Given the description of an element on the screen output the (x, y) to click on. 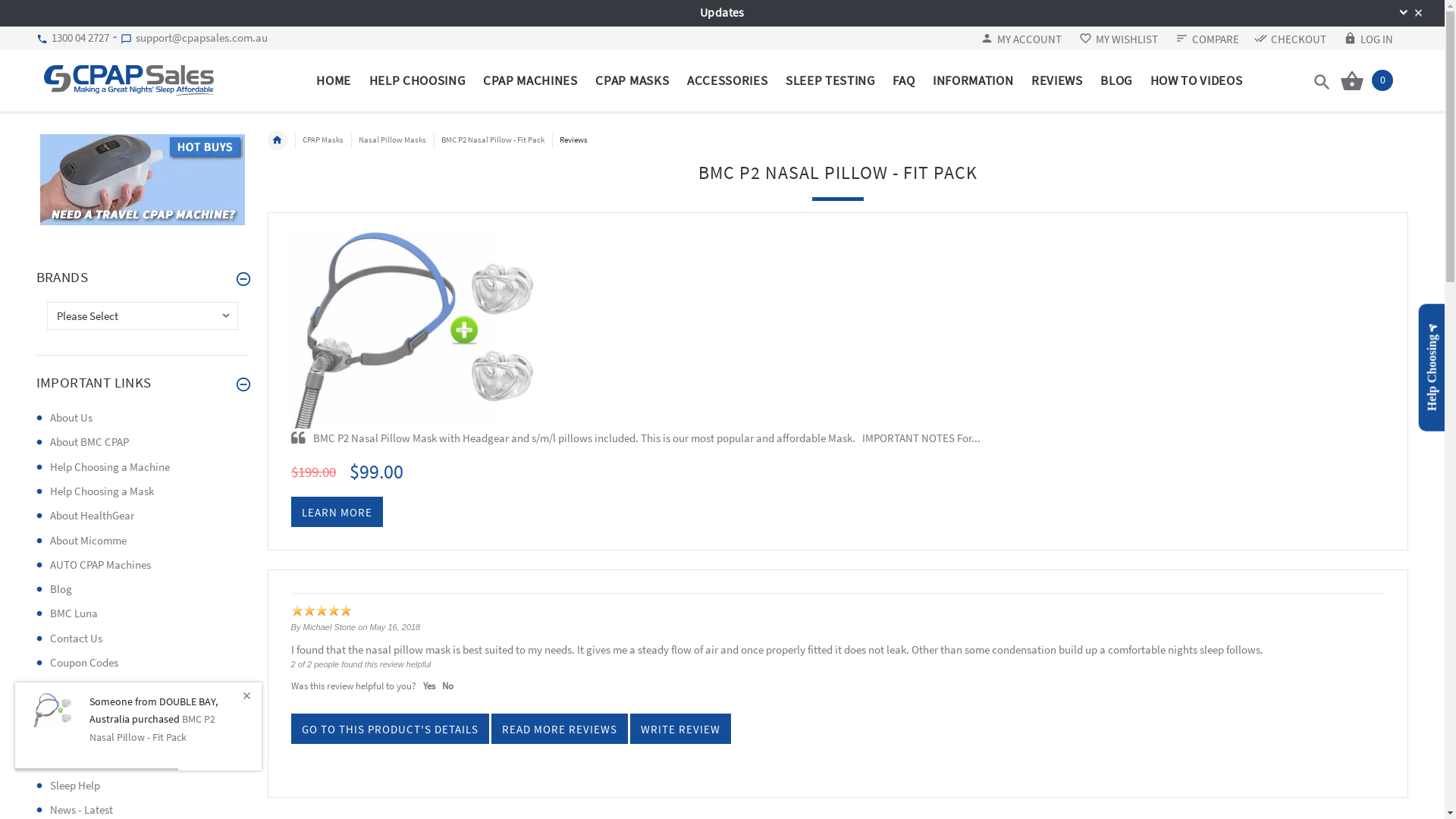
0 Element type: text (1366, 80)
Coupon Codes Element type: text (84, 662)
Yes Element type: text (429, 685)
About Micomme Element type: text (88, 539)
HELP CHOOSING Element type: text (416, 80)
BMC Luna Element type: text (73, 612)
FAQ Element type: text (903, 80)
HOW TO VIDEOS Element type: text (1191, 80)
News - Latest Element type: text (81, 809)
HOME Element type: text (338, 80)
Sleep Help Element type: text (75, 785)
Help Choosing a Machine Element type: text (109, 466)
LOG IN Element type: text (1368, 38)
Nasal Pillow Masks Element type: text (392, 139)
CPAP MASKS Element type: text (631, 80)
Blog Element type: text (61, 588)
CPAP Masks Element type: text (322, 139)
1300 04 2727 Element type: text (78, 37)
Hypnus Element type: text (67, 760)
BMC P2 Nasal Pillow - Fit Pack Element type: text (492, 139)
REVIEWS Element type: text (1056, 80)
GO TO THIS PRODUCT'S DETAILS Element type: text (390, 728)
BLOG Element type: text (1116, 80)
CHECKOUT Element type: text (1290, 38)
COMPARE Element type: text (1207, 38)
Help Choosing a Mask Element type: text (101, 490)
BMC P2 Nasal Pillow - Fit Pack Element type: hover (422, 330)
Contact Us Element type: text (76, 637)
ACCESSORIES Element type: text (726, 80)
Home Element type: text (277, 140)
No Element type: text (447, 685)
BMC P2 Nasal Pillow - Fit Pack Element type: hover (53, 710)
CPAP MACHINES Element type: text (529, 80)
READ MORE REVIEWS Element type: text (559, 728)
How to Videos Element type: text (83, 735)
About HealthGear Element type: text (92, 515)
About BMC CPAP Element type: text (89, 441)
LEARN MORE Element type: text (336, 511)
INFORMATION Element type: text (972, 80)
MY ACCOUNT Element type: text (1020, 38)
AUTO CPAP Machines Element type: text (100, 564)
WRITE REVIEW Element type: text (680, 728)
MY WISHLIST Element type: text (1118, 38)
About Us Element type: text (71, 417)
support@cpapsales.com.au Element type: text (199, 37)
COVID-19 Updates Element type: text (93, 686)
CPAP or AUTO Element type: text (83, 711)
SLEEP TESTING Element type: text (829, 80)
